Given the description of an element on the screen output the (x, y) to click on. 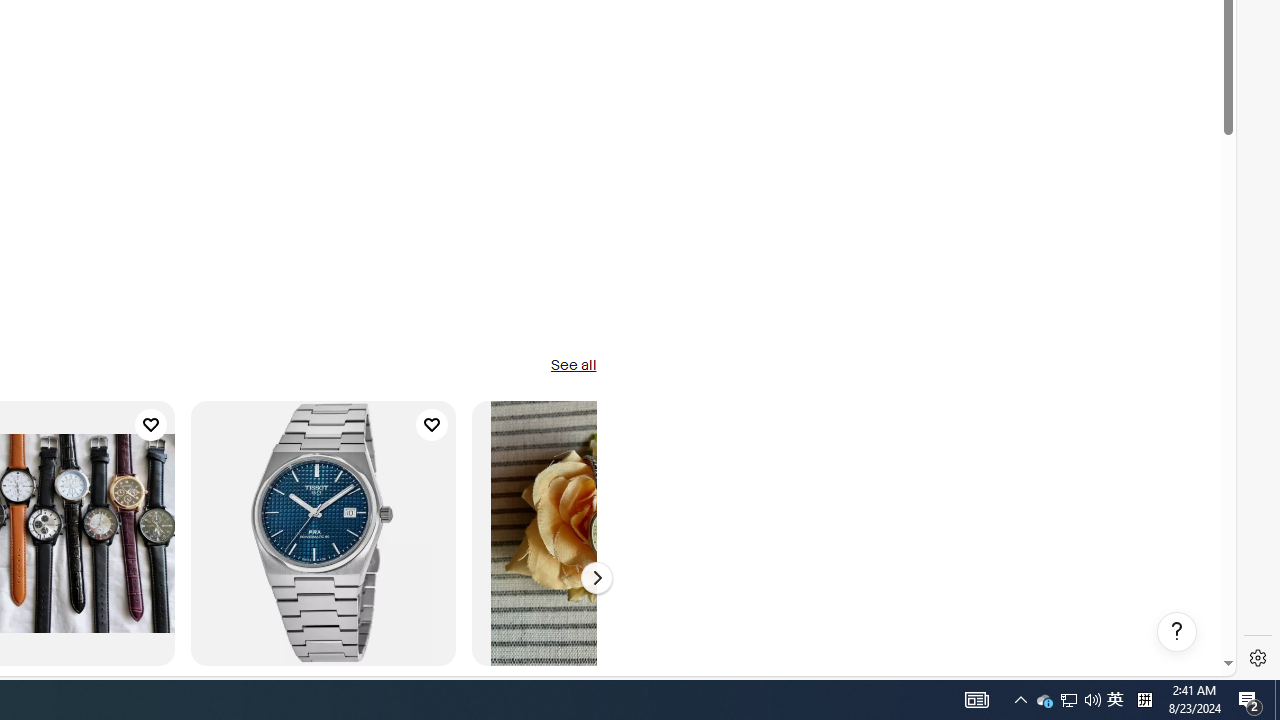
Go to the next slide, Wristwatches - Carousel (596, 578)
Help, opens dialogs (1176, 632)
See all (573, 366)
